Given the description of an element on the screen output the (x, y) to click on. 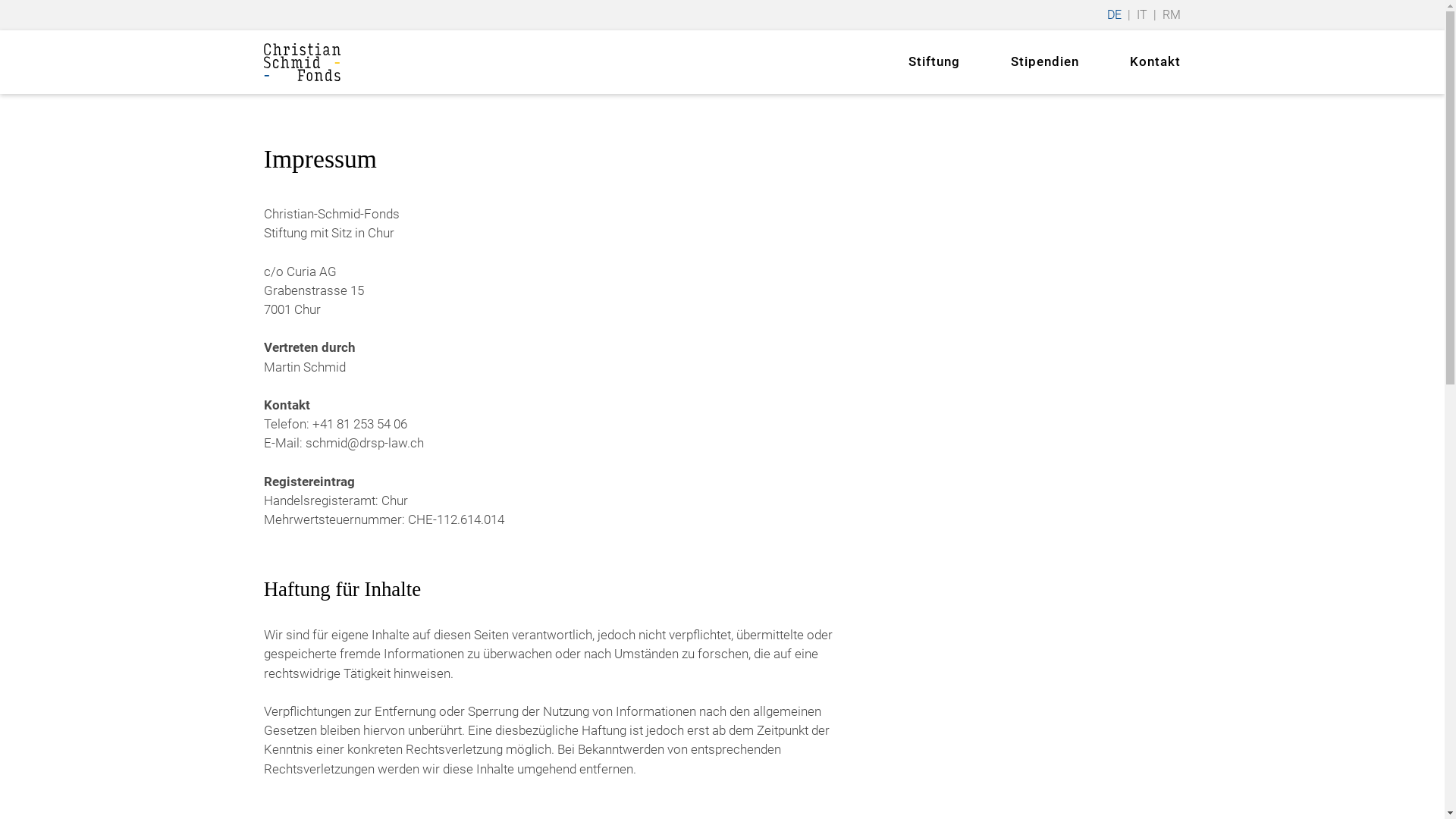
DE Element type: text (1114, 15)
IT Element type: text (1141, 15)
RM Element type: text (1171, 15)
Christian Schmid Fonds Element type: hover (302, 62)
Kontakt Element type: text (1155, 62)
Stiftung Element type: text (933, 62)
Stipendien Element type: text (1044, 62)
